Given the description of an element on the screen output the (x, y) to click on. 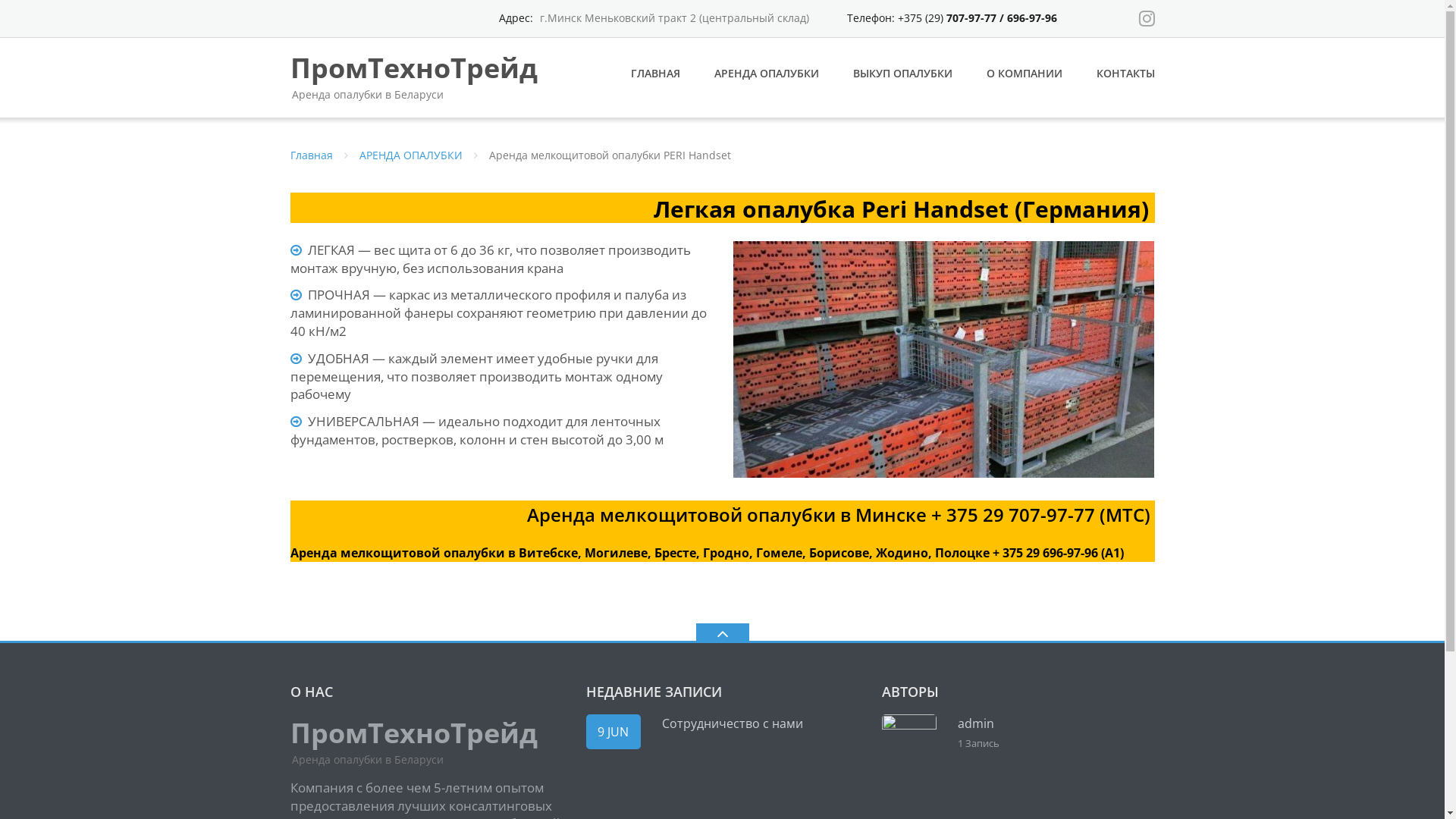
admin Element type: text (975, 723)
dc2d315a3476892195 Element type: hover (943, 359)
Instagram Element type: hover (1146, 18)
9 JUN Element type: text (612, 731)
